Given the description of an element on the screen output the (x, y) to click on. 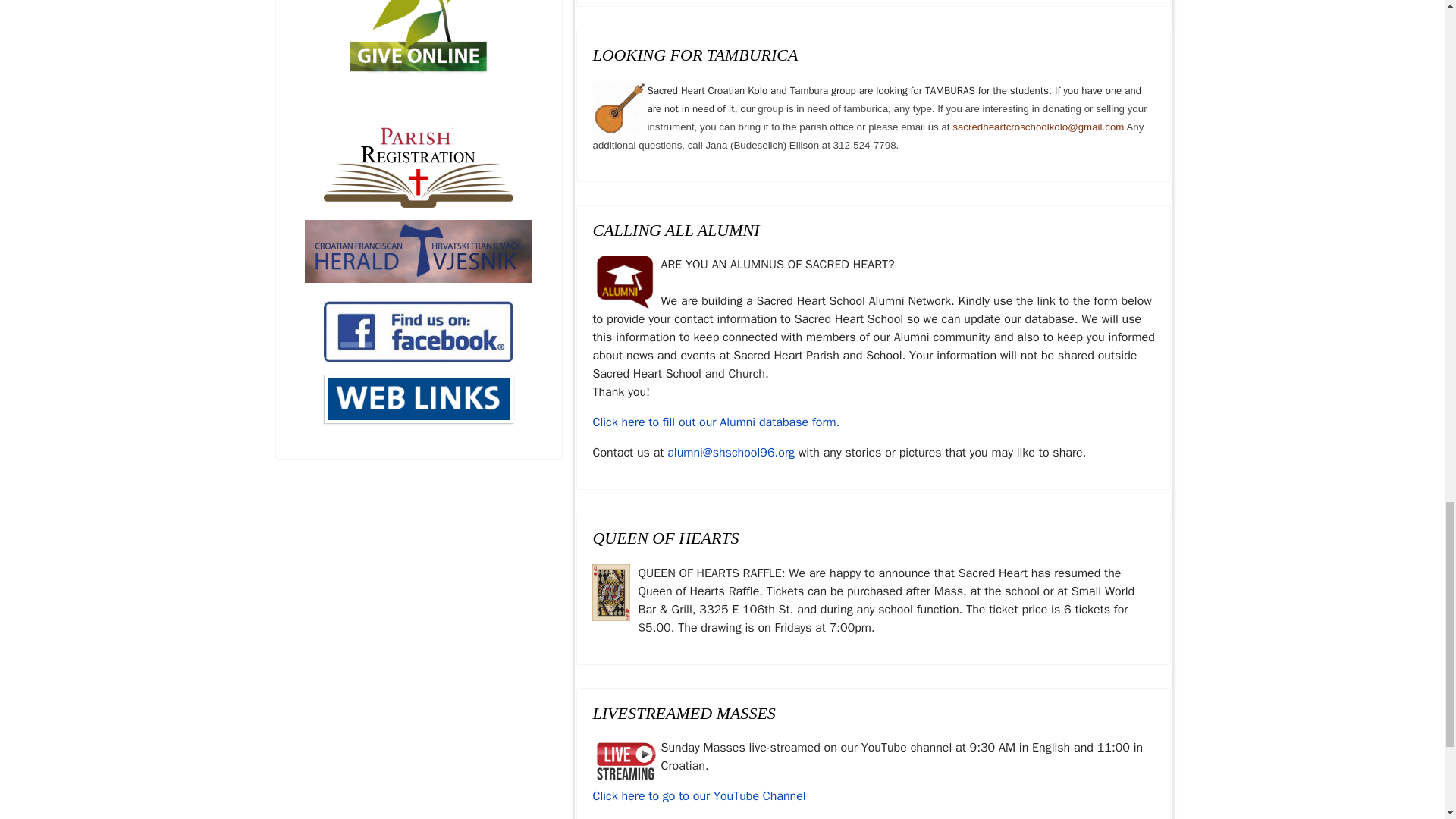
Page 3 (873, 600)
Click here to fill out our Alumni database form. (716, 421)
Click here to go to our YouTube Channel (698, 795)
